Given the description of an element on the screen output the (x, y) to click on. 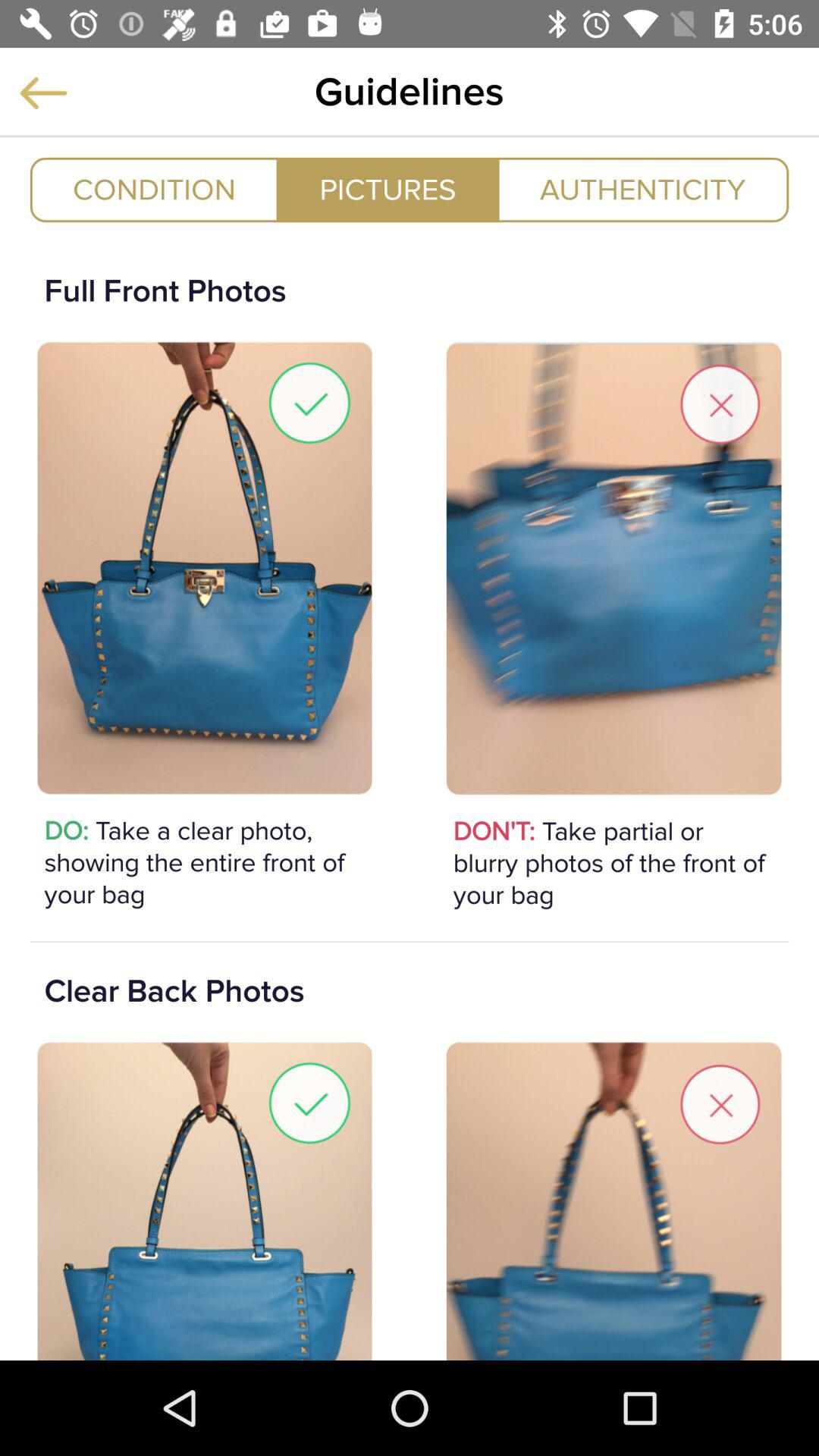
click the item next to the pictures (154, 189)
